Given the description of an element on the screen output the (x, y) to click on. 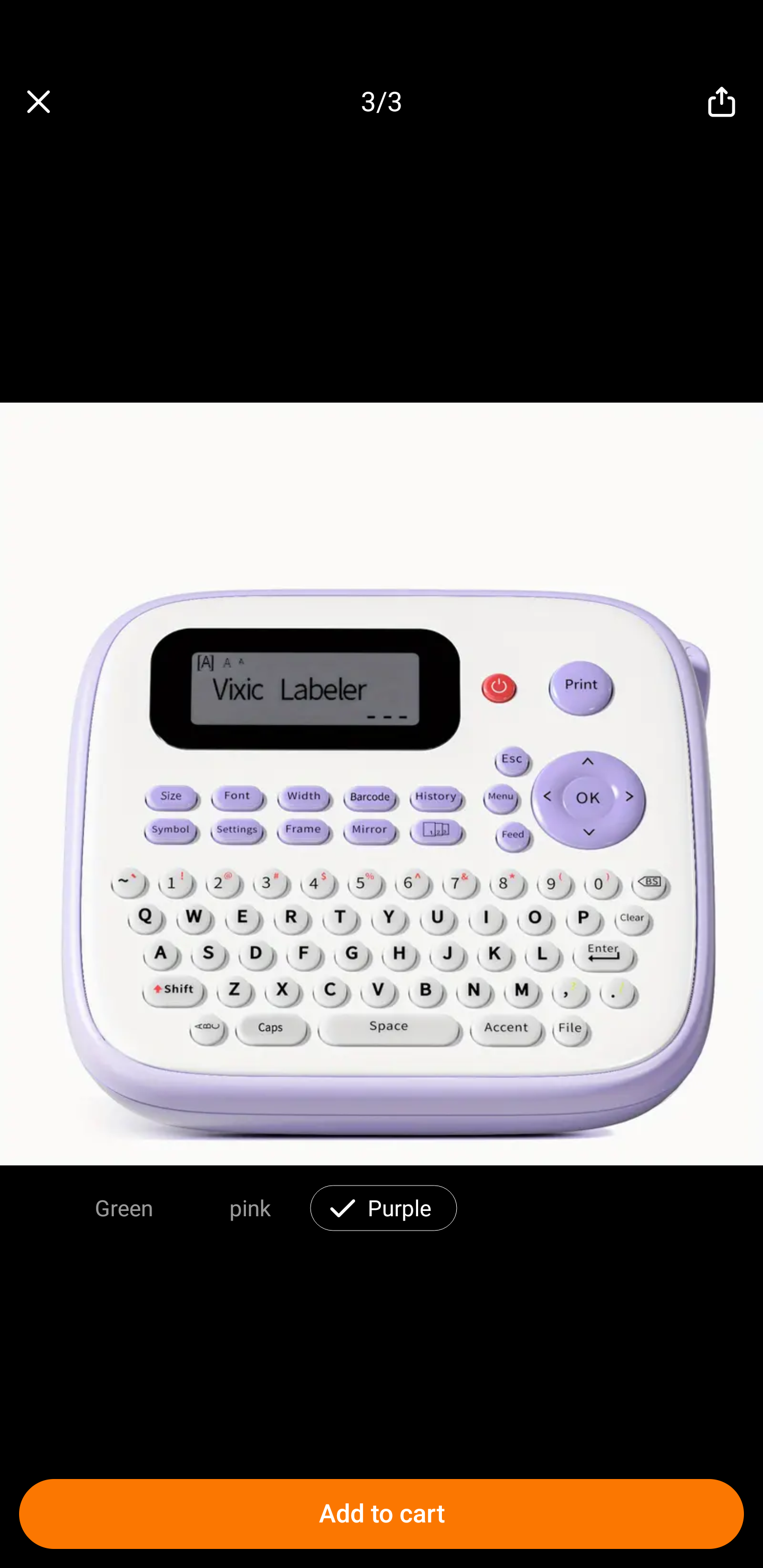
share (721, 101)
Green pink Purple (381, 1204)
Green (123, 1207)
pink (249, 1207)
Purple (399, 1207)
Add to cart (381, 1513)
